Given the description of an element on the screen output the (x, y) to click on. 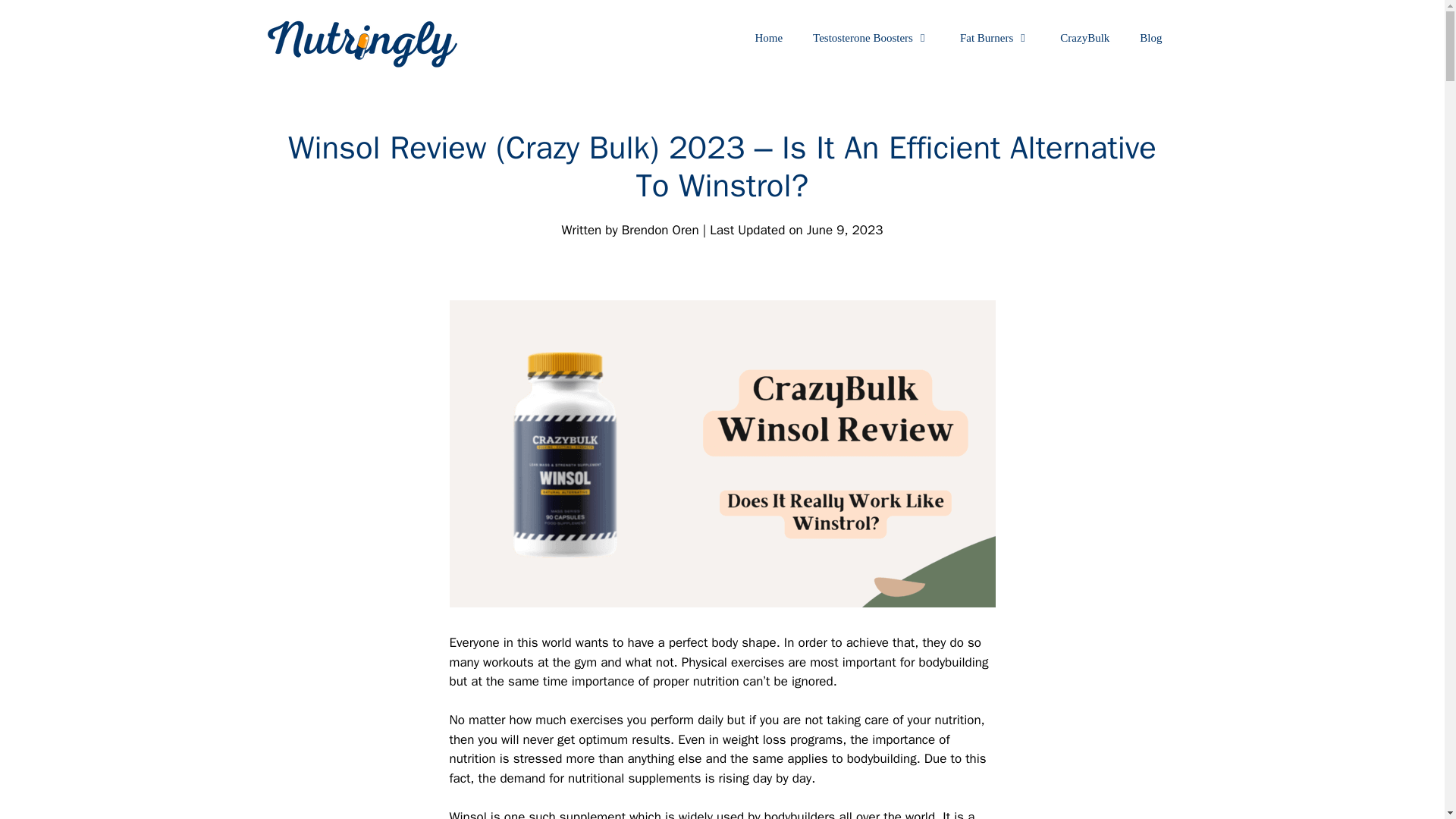
Testosterone Boosters (870, 37)
Blog (1150, 37)
Fat Burners (994, 37)
Home (768, 37)
CrazyBulk (1084, 37)
